Given the description of an element on the screen output the (x, y) to click on. 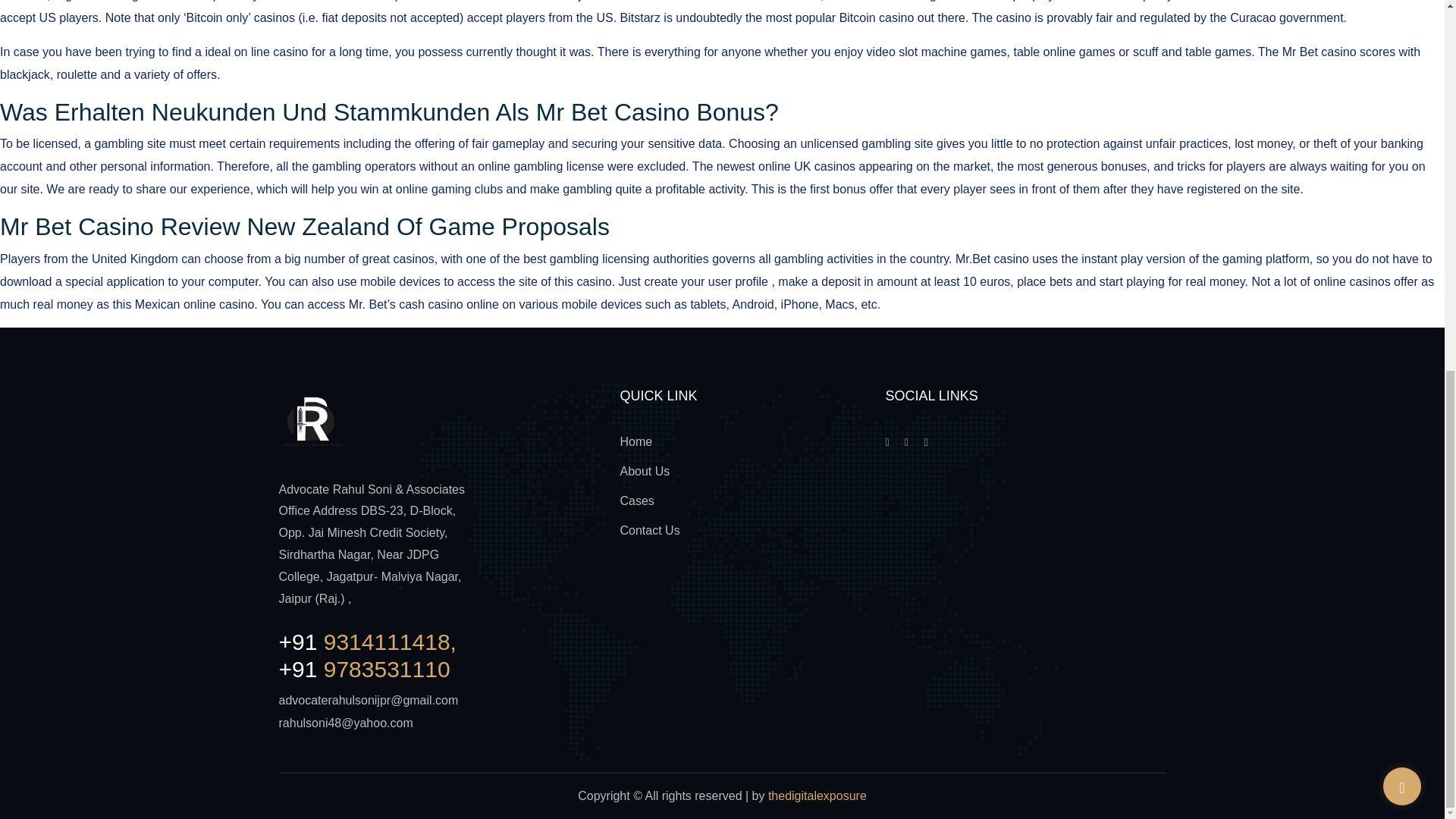
Home (636, 440)
thedigitalexposure (817, 795)
Contact Us (649, 530)
Cases (636, 500)
About Us (644, 471)
Go to Top (1401, 113)
